Given the description of an element on the screen output the (x, y) to click on. 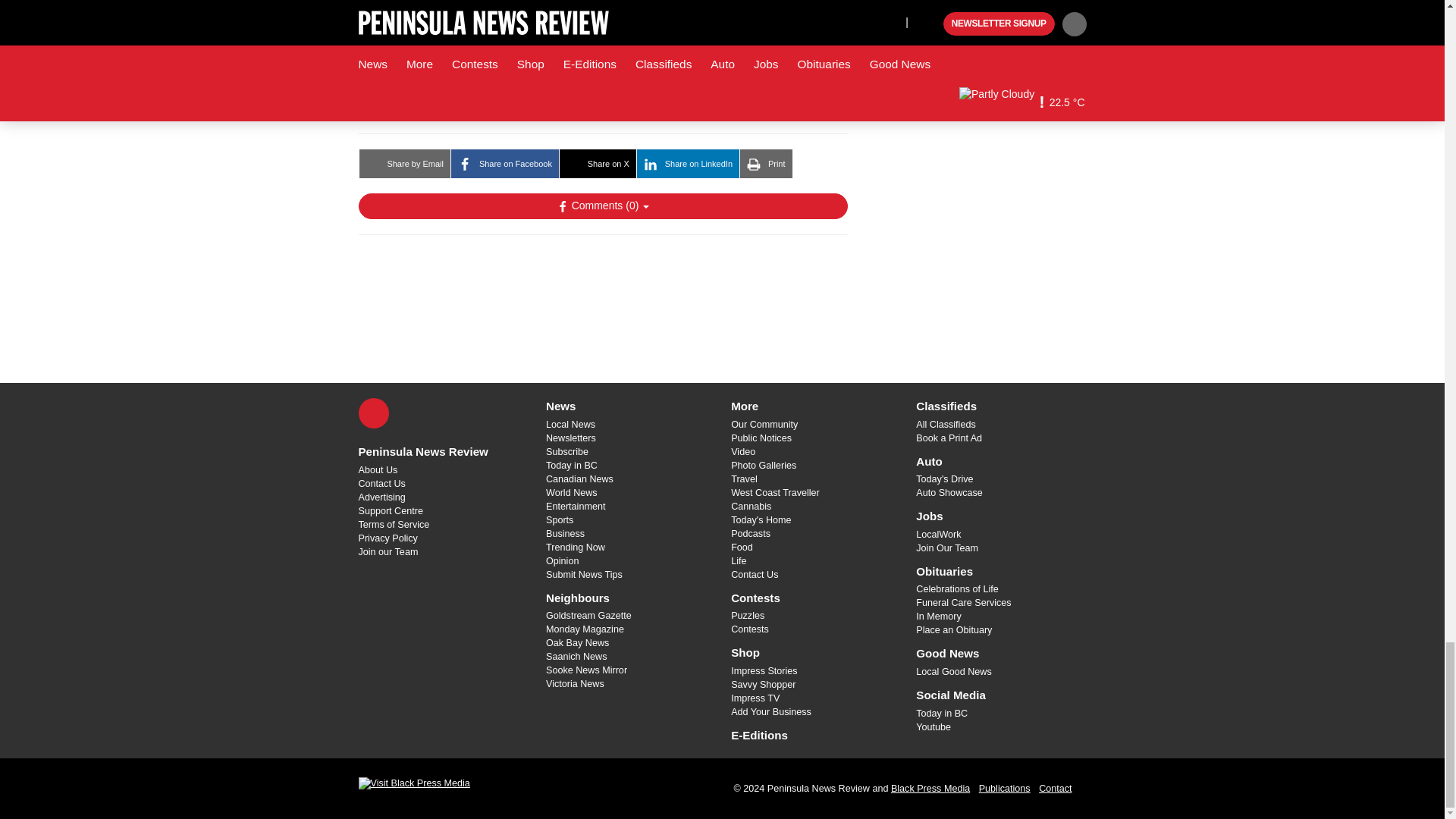
related story (599, 33)
Show Comments (602, 206)
X (373, 413)
